Given the description of an element on the screen output the (x, y) to click on. 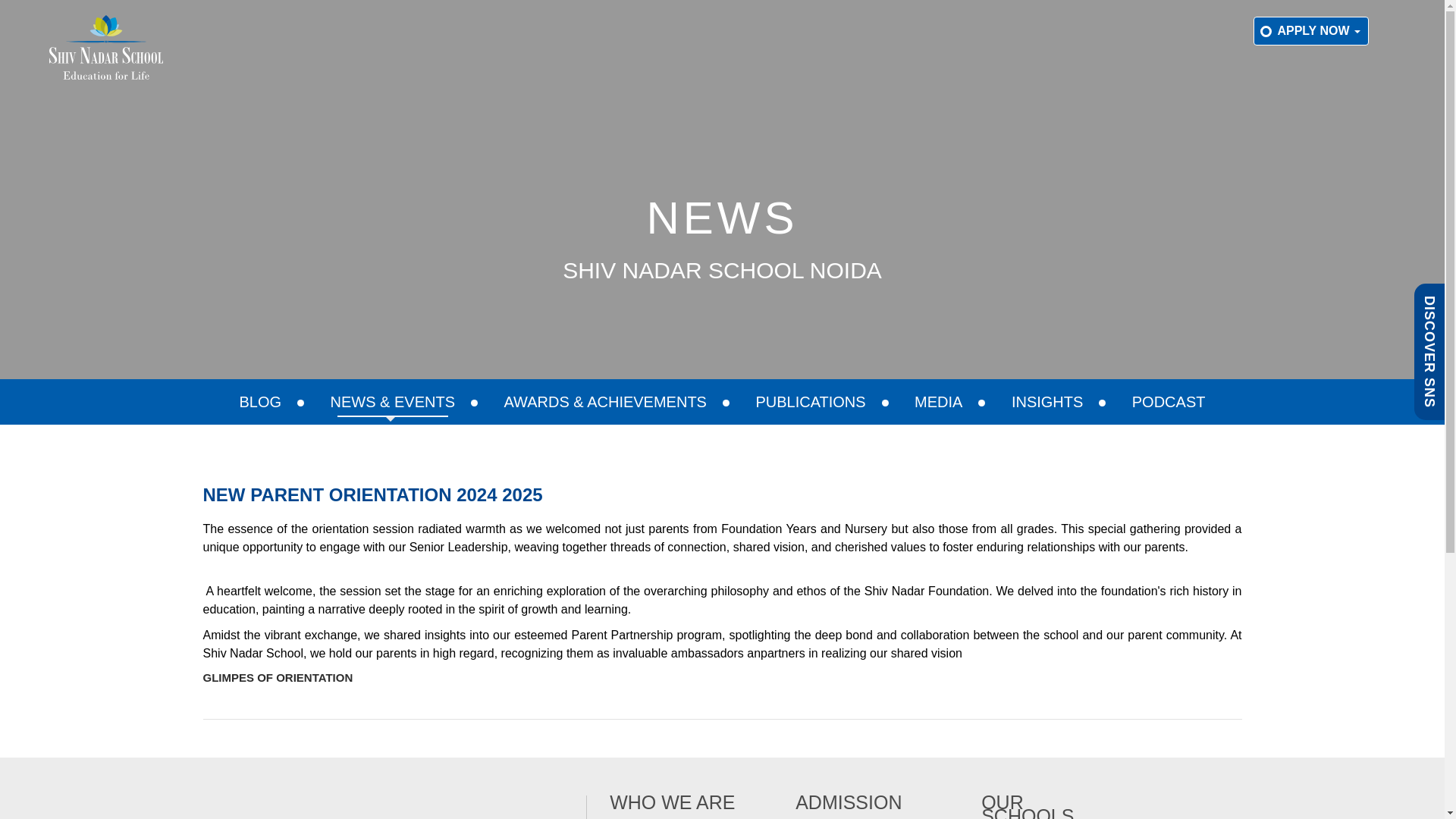
APPLY NOW (1310, 30)
